Given the description of an element on the screen output the (x, y) to click on. 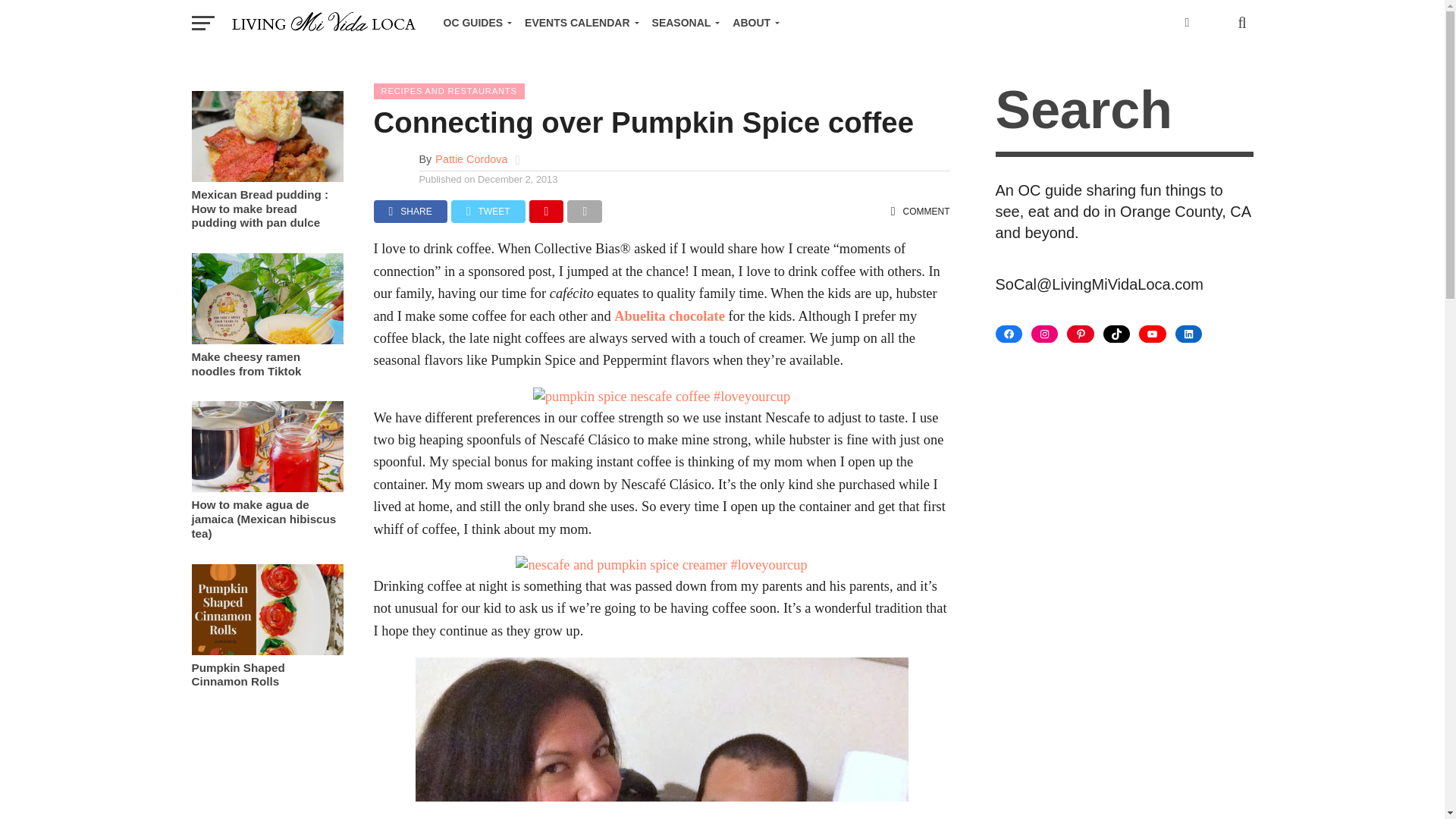
Make cheesy ramen noodles from Tiktok (266, 339)
Search (1123, 112)
EVENTS CALENDAR (578, 22)
SEASONAL (683, 22)
Pumpkin Shaped Cinnamon Rolls (266, 650)
Posts by Pattie Cordova (470, 159)
OC GUIDES (474, 22)
